Given the description of an element on the screen output the (x, y) to click on. 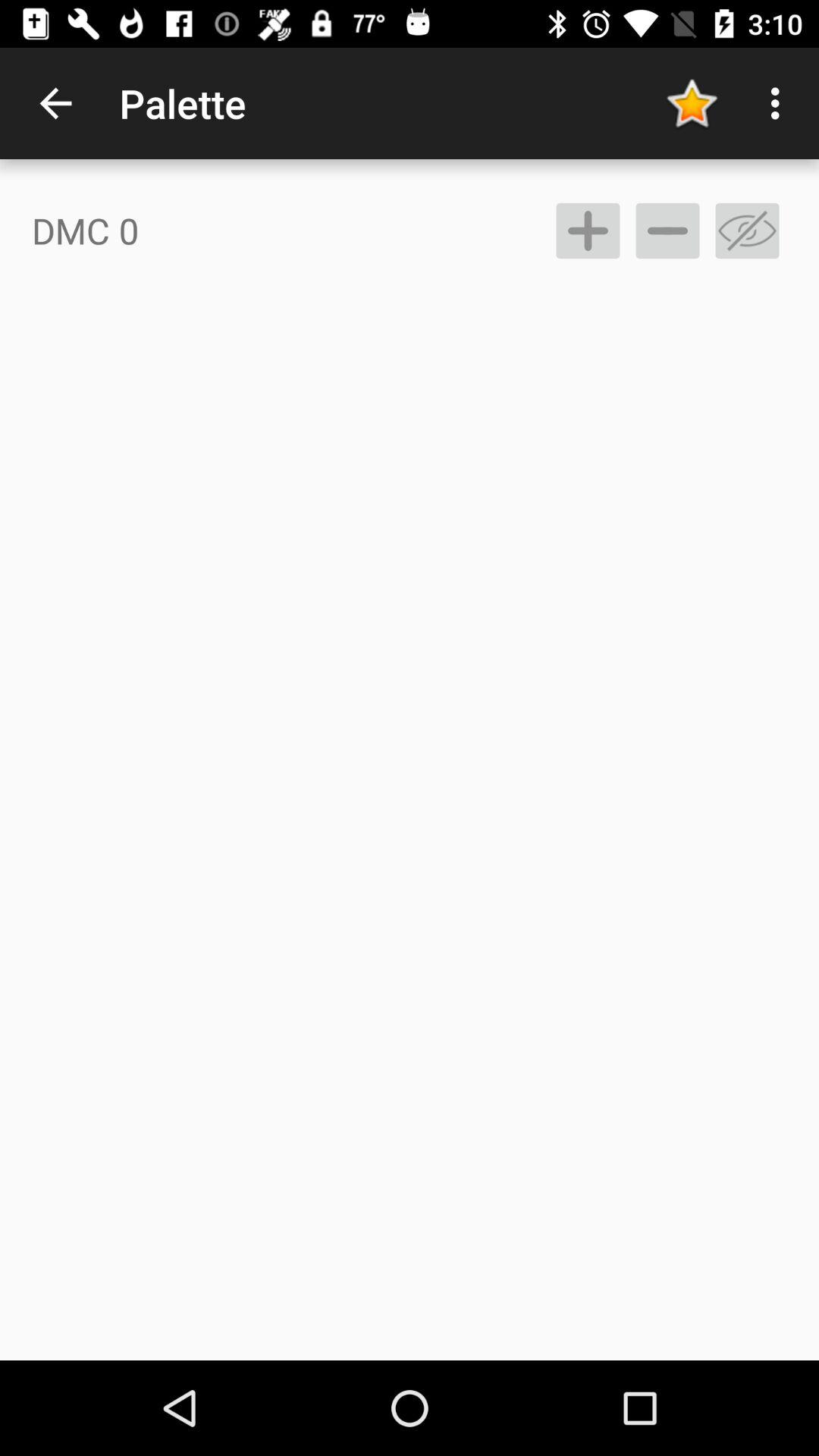
press app to the right of the palette item (691, 103)
